Given the description of an element on the screen output the (x, y) to click on. 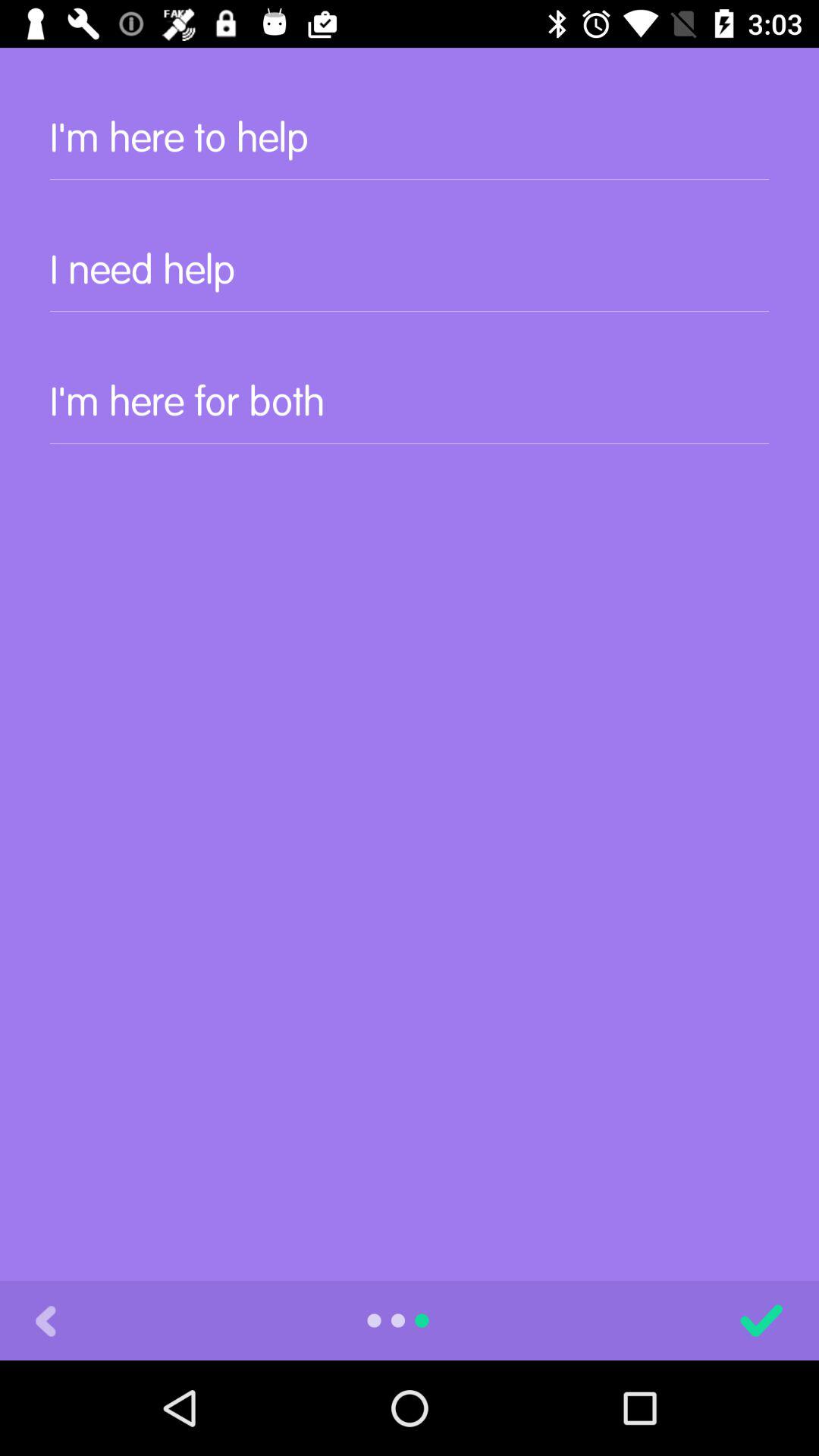
turn off icon at the bottom right corner (761, 1320)
